Given the description of an element on the screen output the (x, y) to click on. 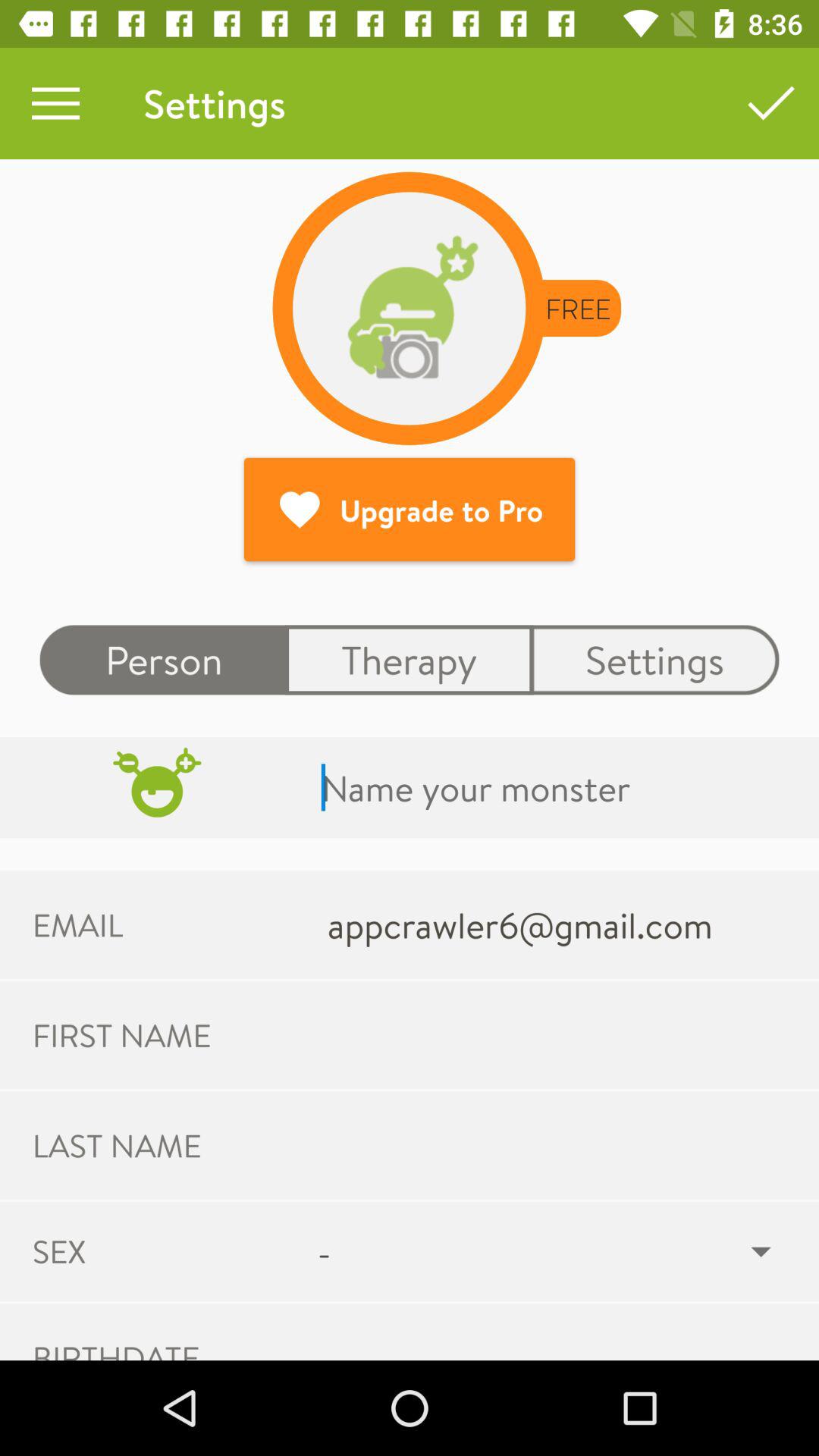
enter last name (554, 1145)
